Given the description of an element on the screen output the (x, y) to click on. 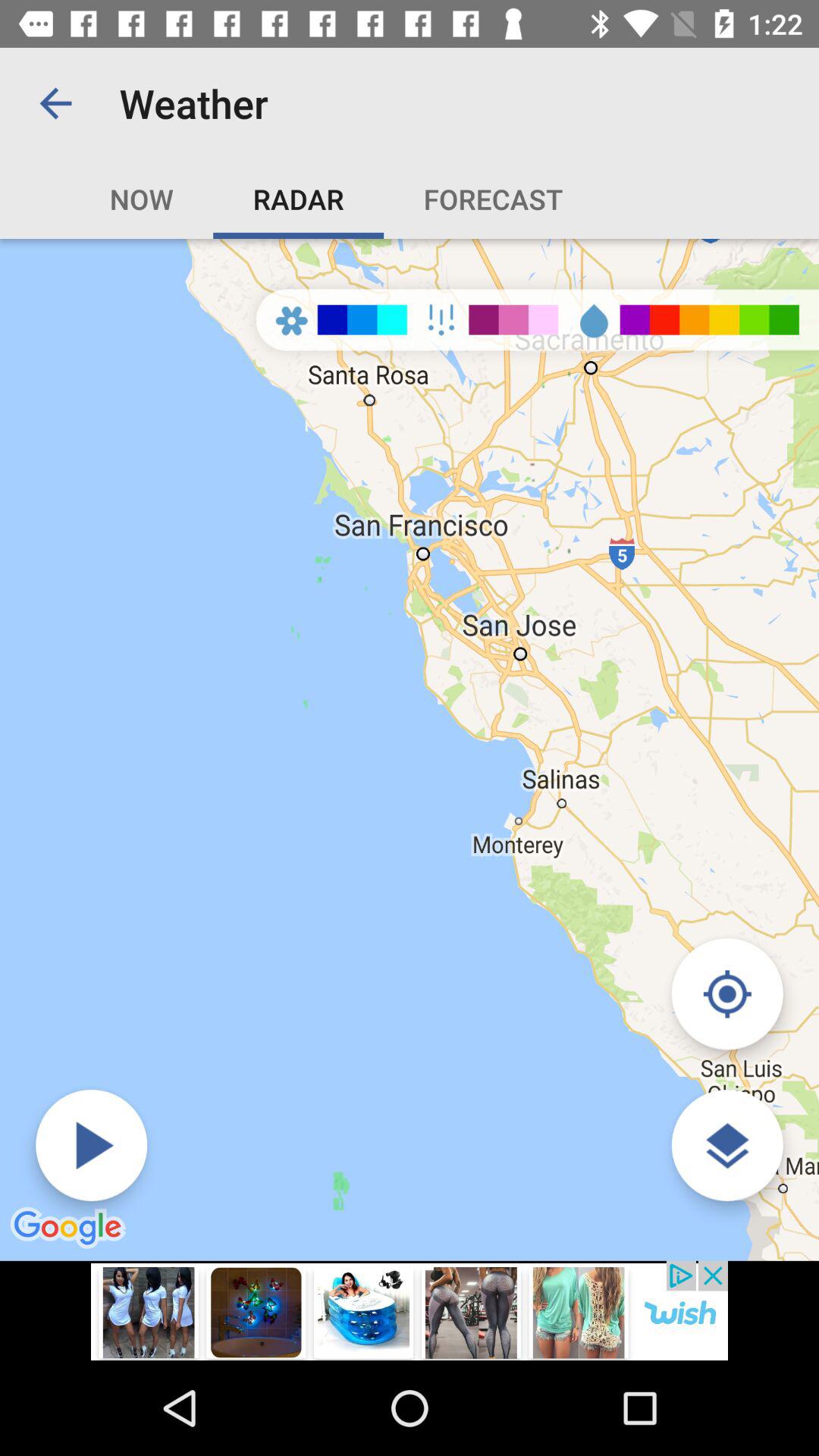
advertisement (409, 1310)
